Given the description of an element on the screen output the (x, y) to click on. 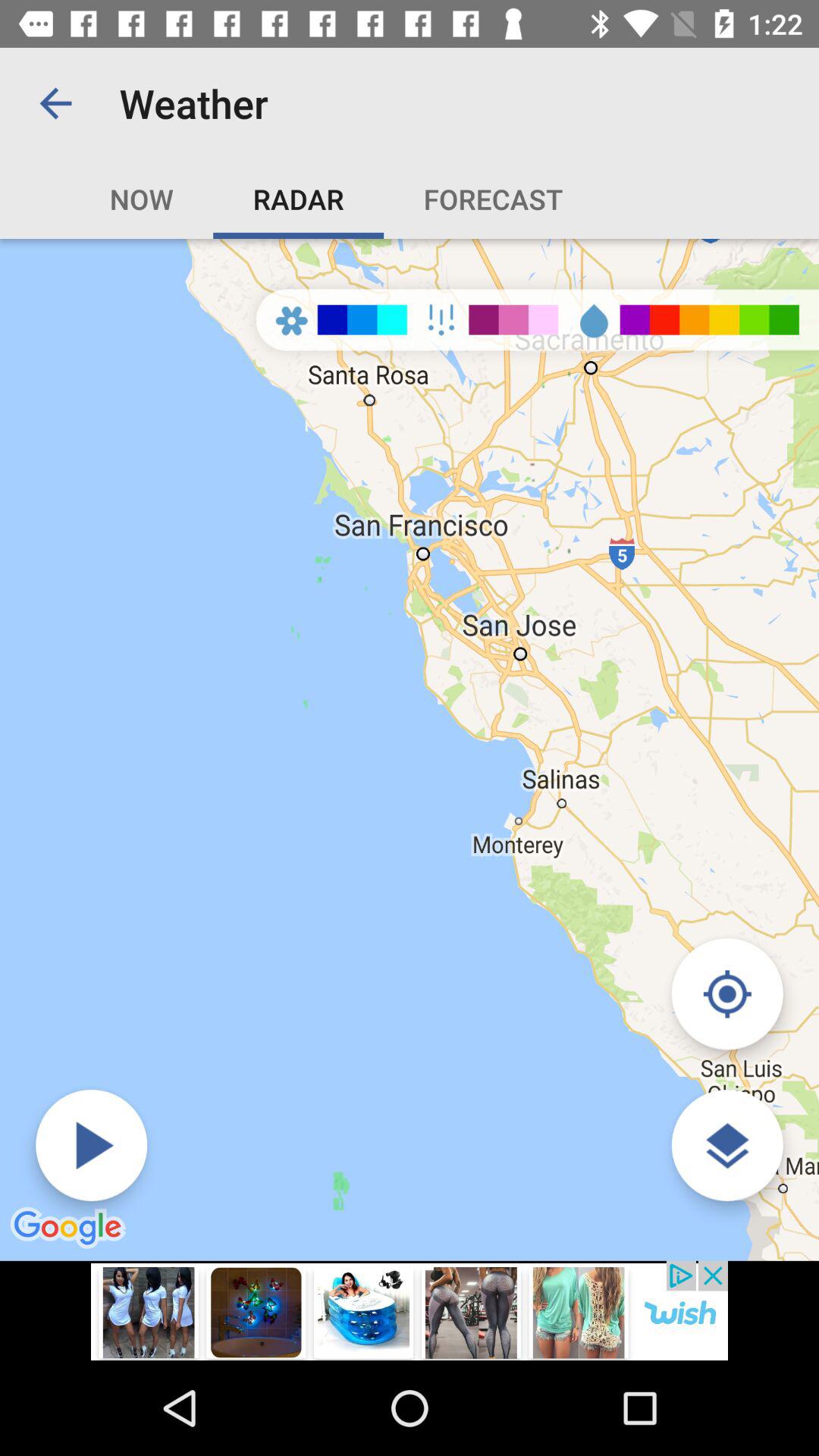
advertisement (409, 1310)
